Given the description of an element on the screen output the (x, y) to click on. 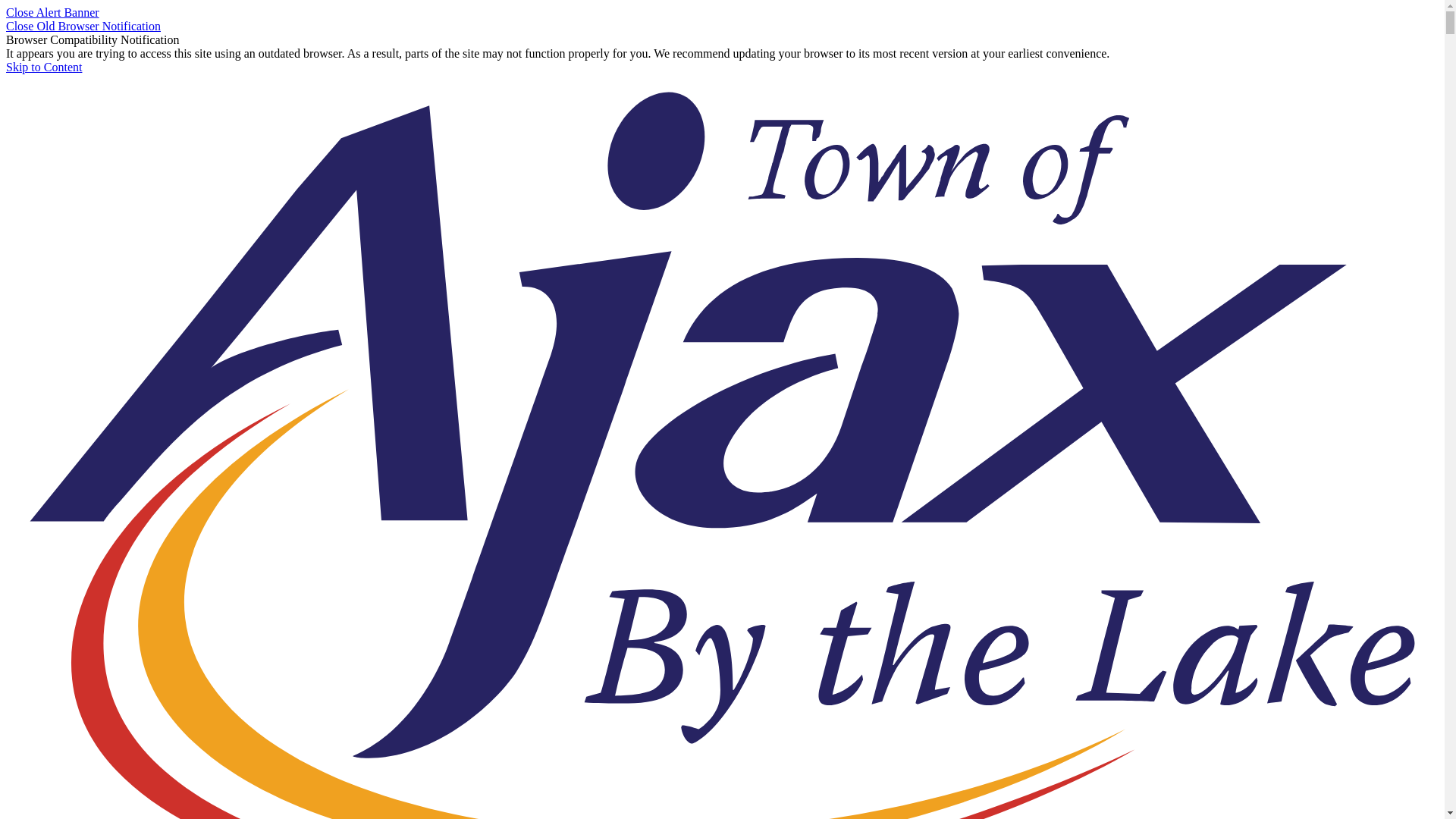
Close Old Browser Notification Element type: text (83, 25)
Close Alert Banner Element type: text (52, 12)
Skip to Content Element type: text (43, 66)
